Given the description of an element on the screen output the (x, y) to click on. 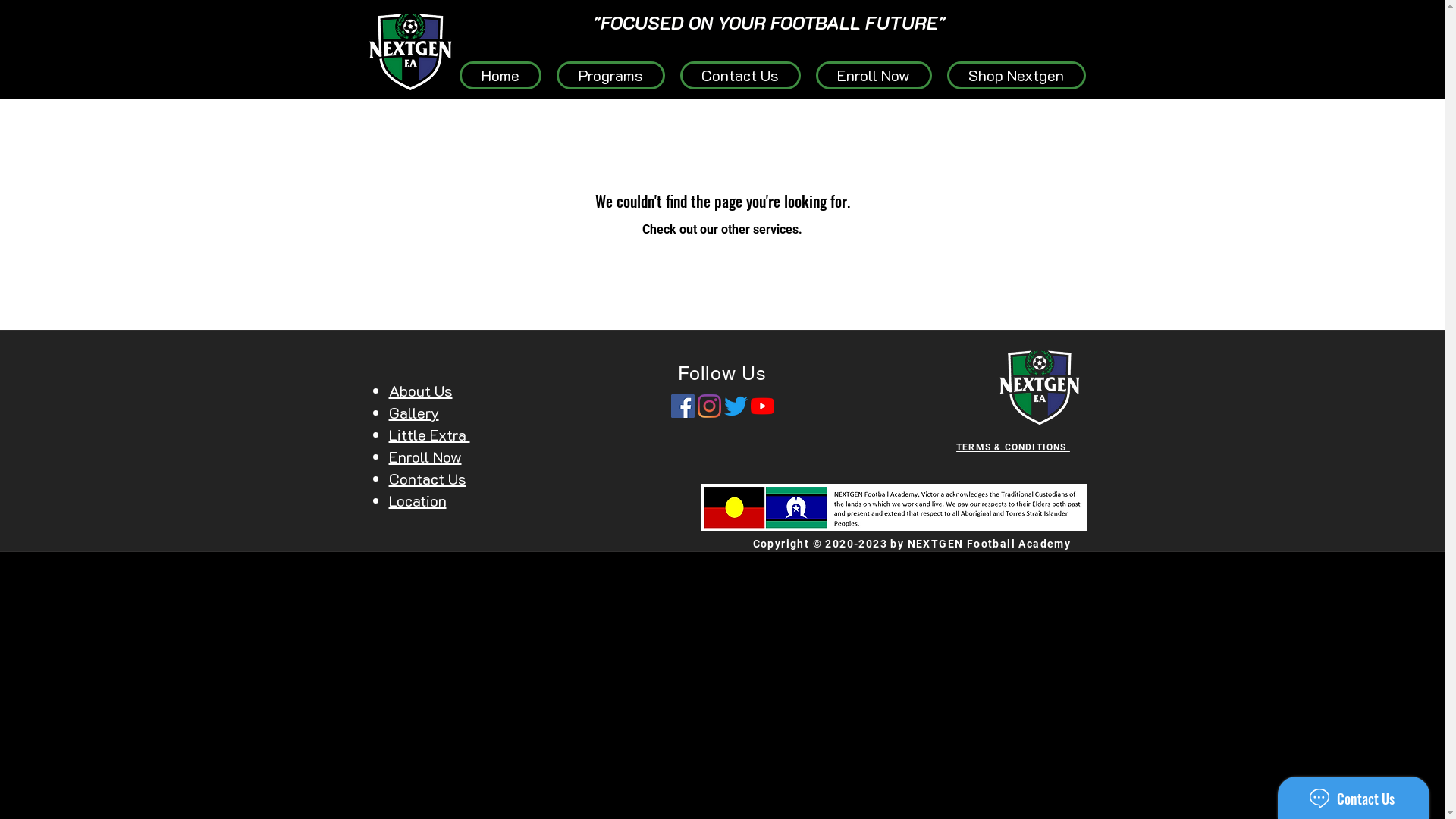
About Us Element type: text (419, 390)
Home Element type: text (500, 75)
Programs Element type: text (610, 75)
Little Extra  Element type: text (428, 434)
Shop Nextgen Element type: text (1015, 75)
Location Element type: text (416, 500)
Contact Us Element type: text (426, 478)
TERMS & CONDITIONS  Element type: text (1013, 445)
Contact Us Element type: text (739, 75)
Enroll Now Element type: text (424, 456)
Gallery Element type: text (413, 413)
Enroll Now Element type: text (873, 75)
